Given the description of an element on the screen output the (x, y) to click on. 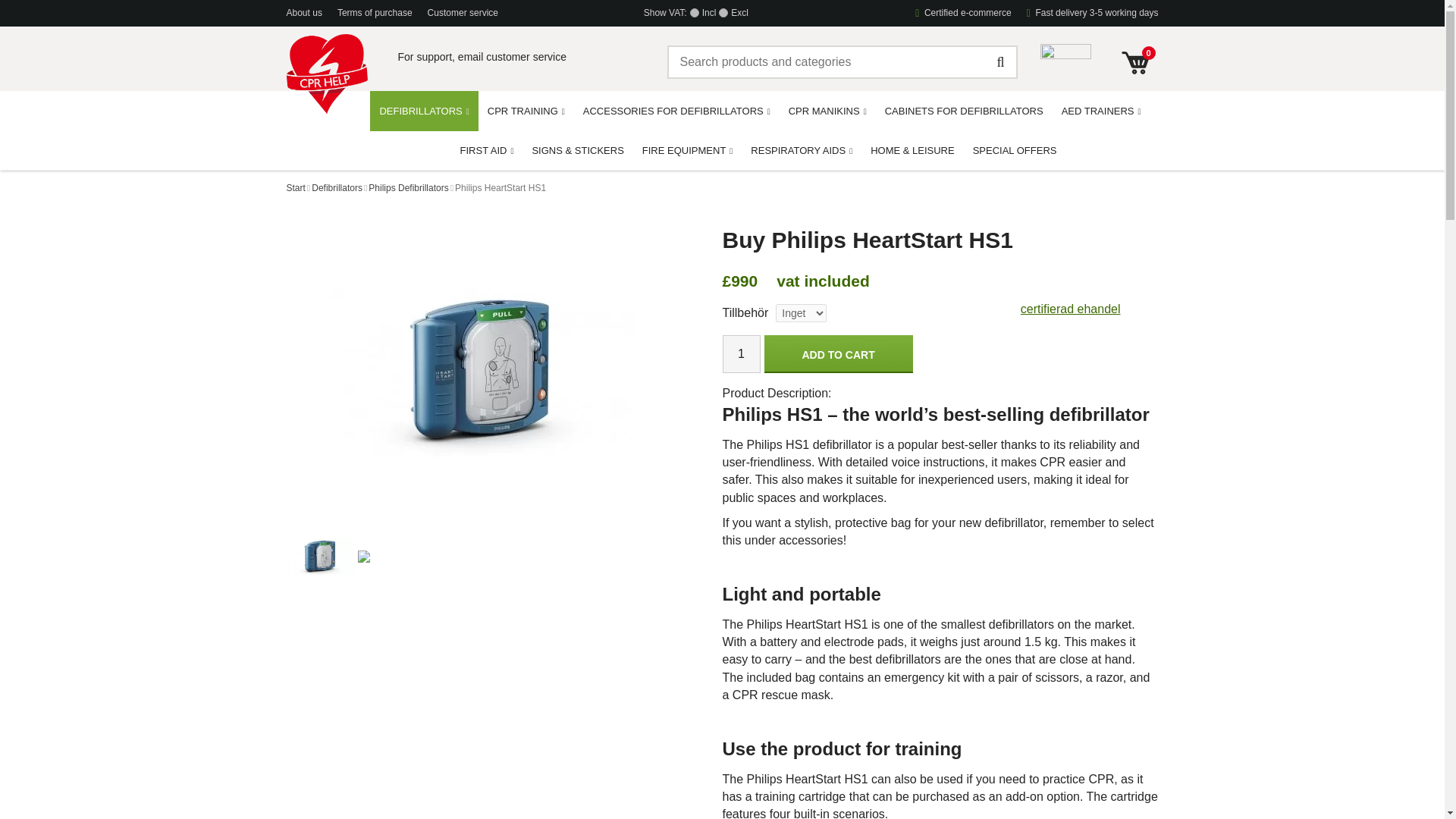
1 (741, 353)
RESPIRATORY AIDS (801, 149)
AED TRAINERS (1101, 110)
certifierad ehandel (1070, 308)
ADD TO CART (838, 353)
Defibrillators (336, 187)
CABINETS FOR DEFIBRILLATORS (964, 110)
Defibrillators (336, 187)
Enlarge (481, 369)
Quantity (741, 353)
